Given the description of an element on the screen output the (x, y) to click on. 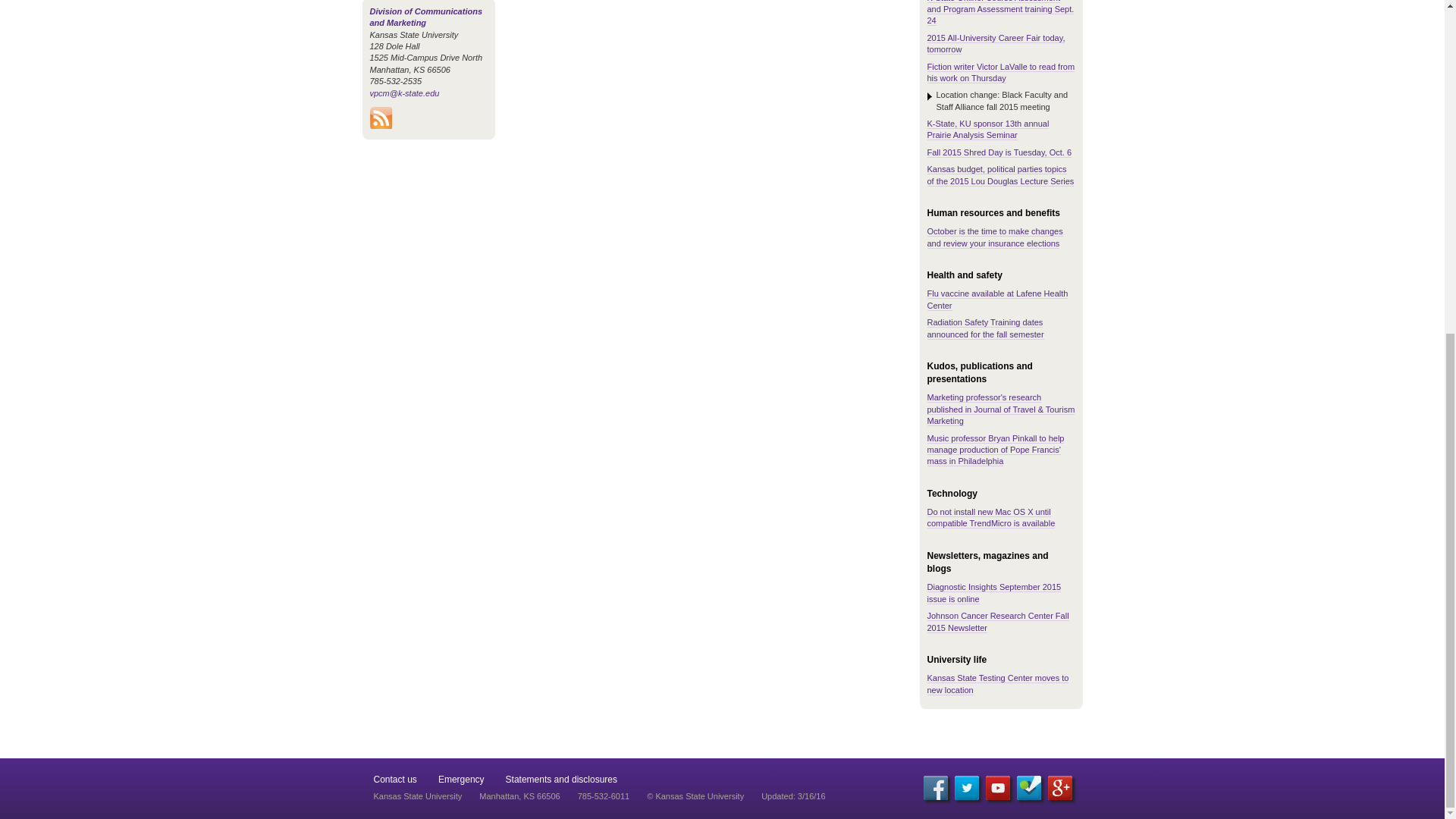
Subscribe to K-State Today RSS feeds (380, 125)
Division of Communications and Marketing (426, 16)
